Given the description of an element on the screen output the (x, y) to click on. 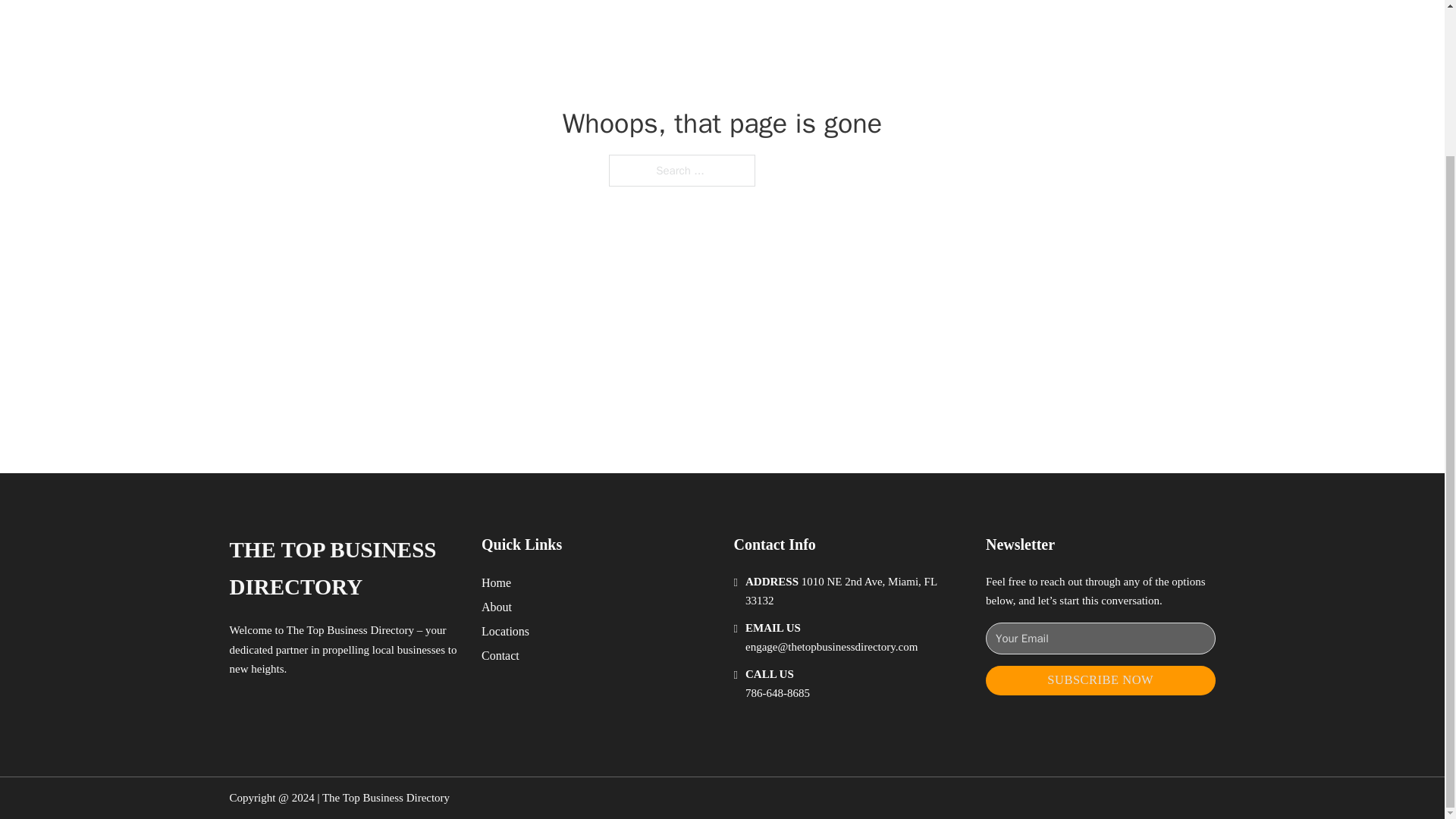
Locations (505, 630)
THE TOP BUSINESS DIRECTORY (343, 568)
About (496, 607)
SUBSCRIBE NOW (1100, 680)
786-648-8685 (777, 693)
Home (496, 582)
Contact (500, 655)
